Given the description of an element on the screen output the (x, y) to click on. 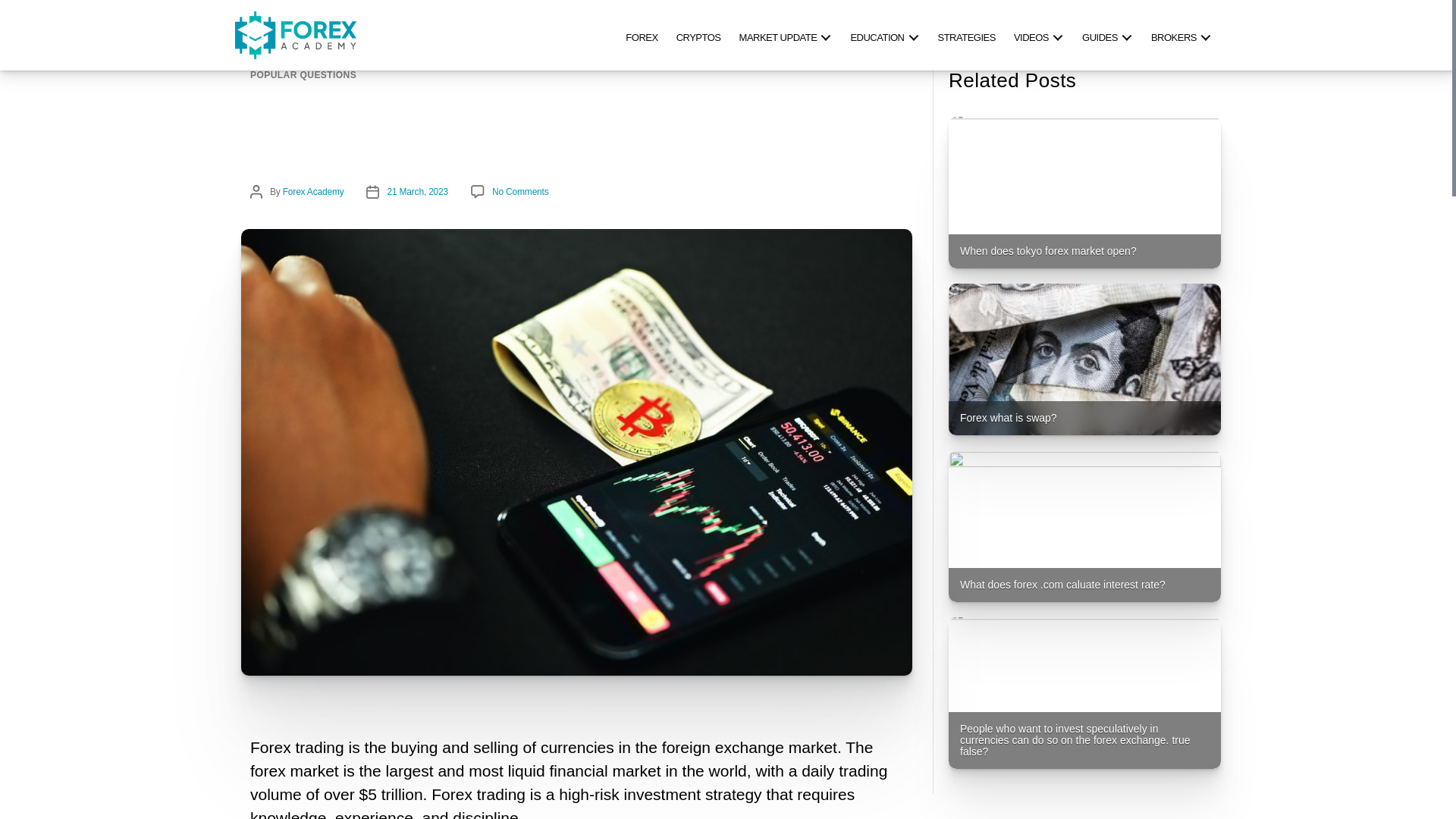
FOREX (640, 35)
GUIDES (1107, 35)
MARKET UPDATE (785, 35)
STRATEGIES (966, 35)
CRYPTOS (698, 35)
When does tokyo forex market open? (1085, 192)
Forex what is swap? (1085, 358)
VIDEOS (1038, 35)
EDUCATION (884, 35)
BROKERS (1181, 35)
What does forex .com caluate interest rate? (1085, 525)
